Given the description of an element on the screen output the (x, y) to click on. 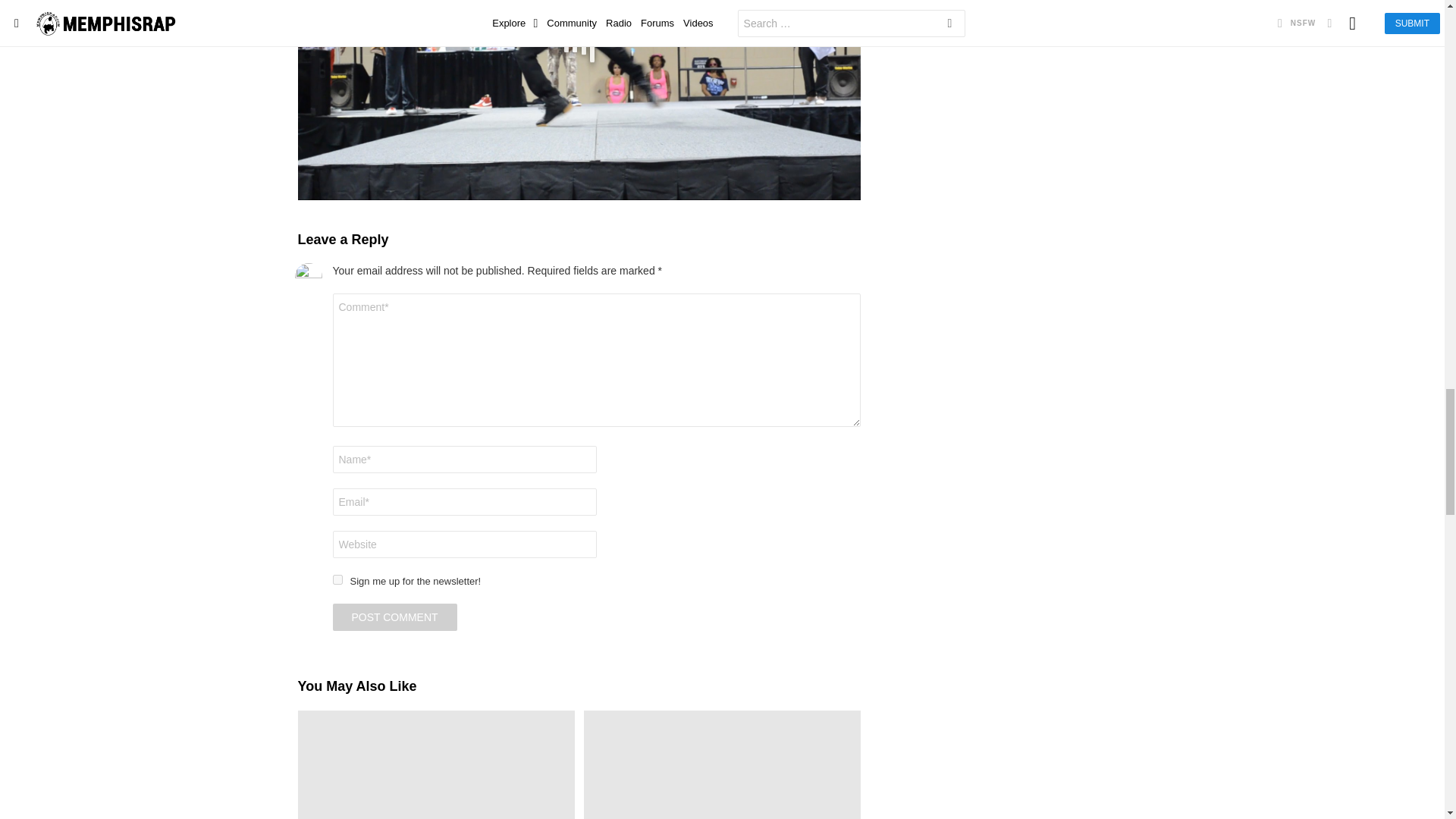
next (853, 25)
1 (336, 579)
prev (304, 25)
Post Comment (394, 616)
